Given the description of an element on the screen output the (x, y) to click on. 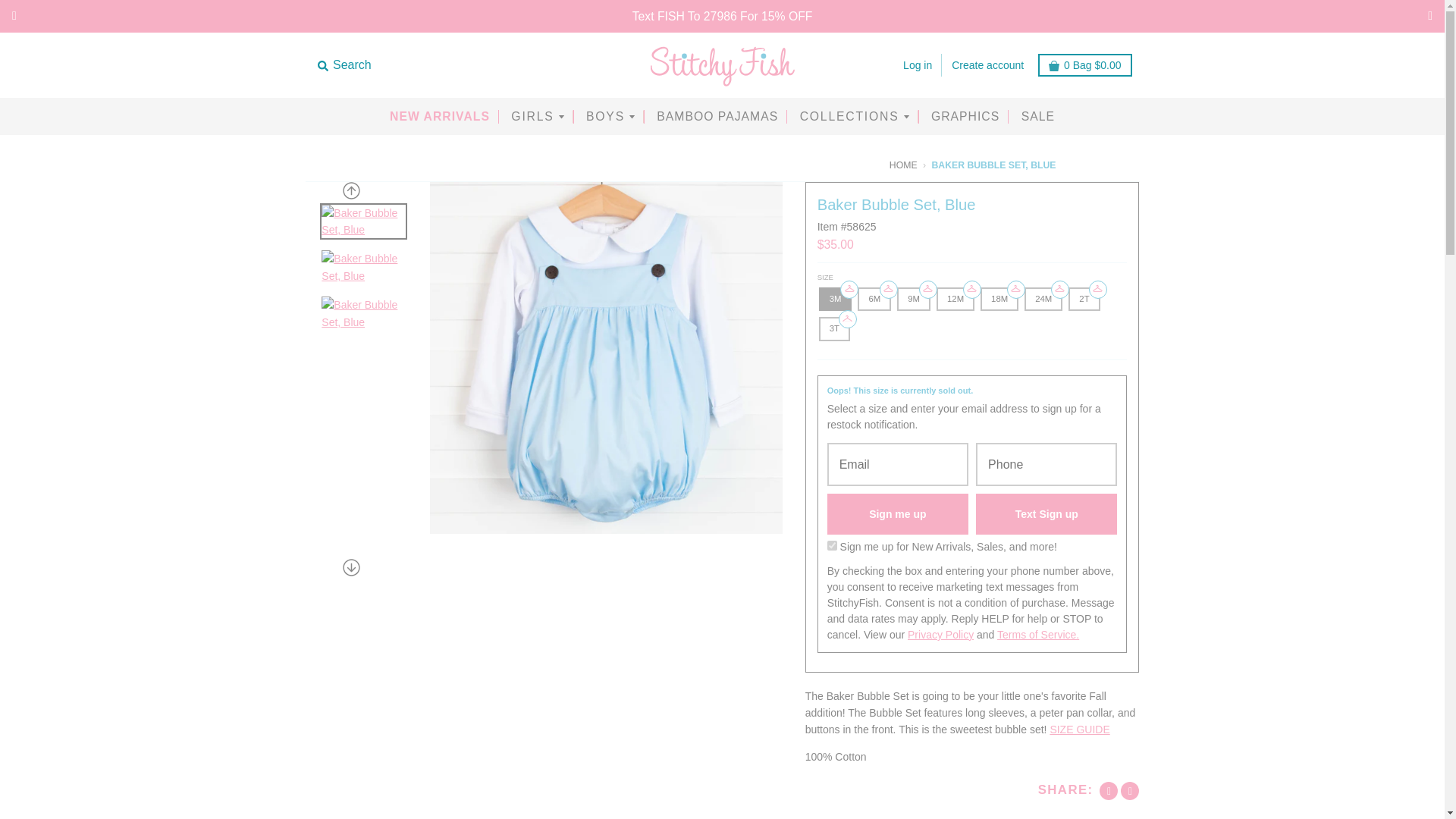
Back to the frontpage (903, 164)
HANGER (1059, 287)
BOYS (610, 116)
COLLECTIONS (855, 116)
Log in (917, 65)
NEW ARRIVALS (439, 116)
HANGER (847, 318)
12M (955, 299)
HANGER (927, 287)
